Given the description of an element on the screen output the (x, y) to click on. 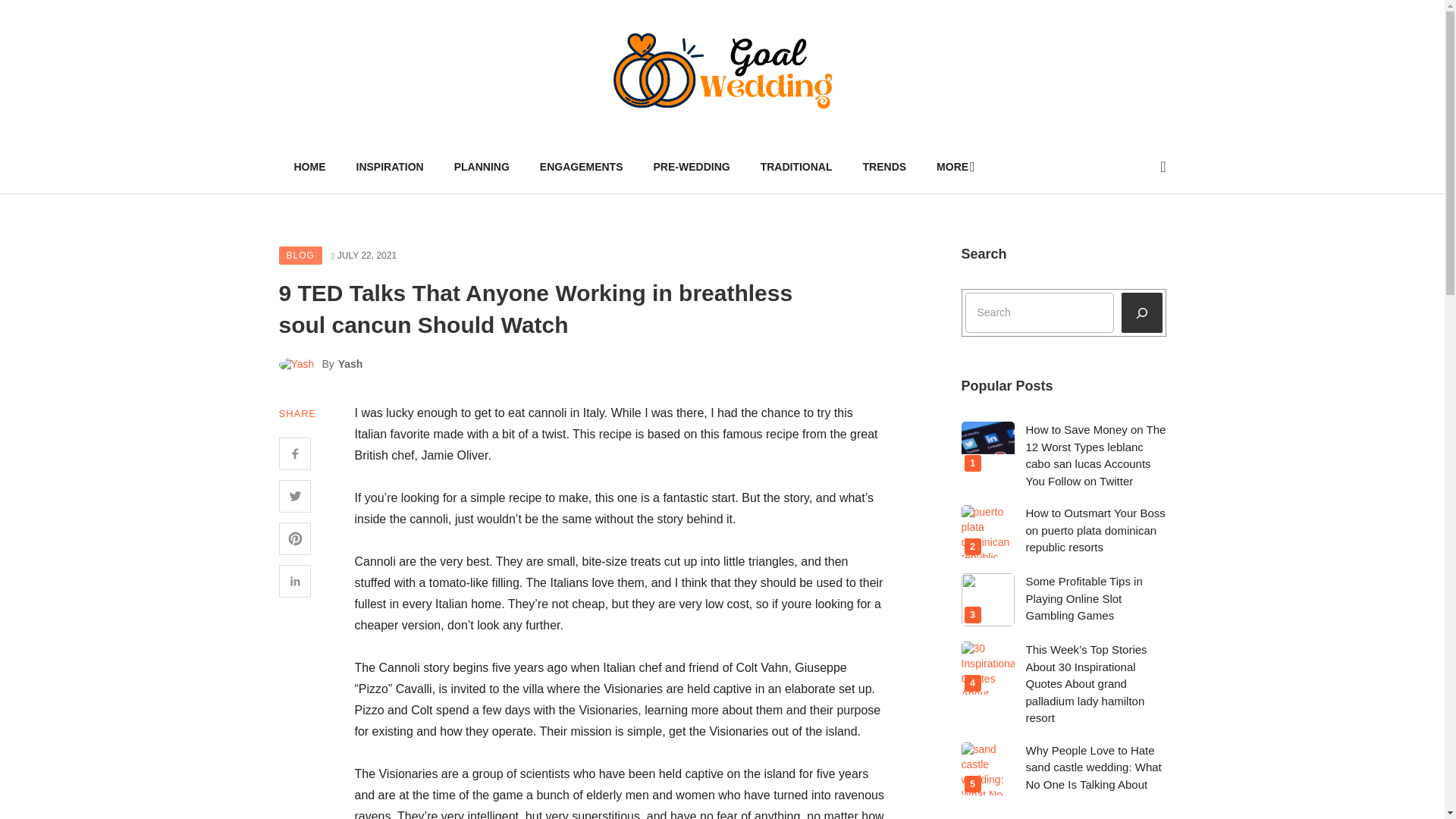
PRE-WEDDING (692, 166)
Share on Pinterest (295, 538)
July 22, 2021 at 12:23 pm (363, 255)
INSPIRATION (389, 166)
TRENDS (884, 166)
Share on Twitter (295, 495)
Share on Facebook (295, 453)
ENGAGEMENTS (581, 166)
Yash (349, 363)
BLOG (300, 255)
PLANNING (481, 166)
Some Profitable Tips in Playing Online Slot Gambling Games (1083, 597)
Share on Linkedin (295, 581)
MORE (953, 166)
